Given the description of an element on the screen output the (x, y) to click on. 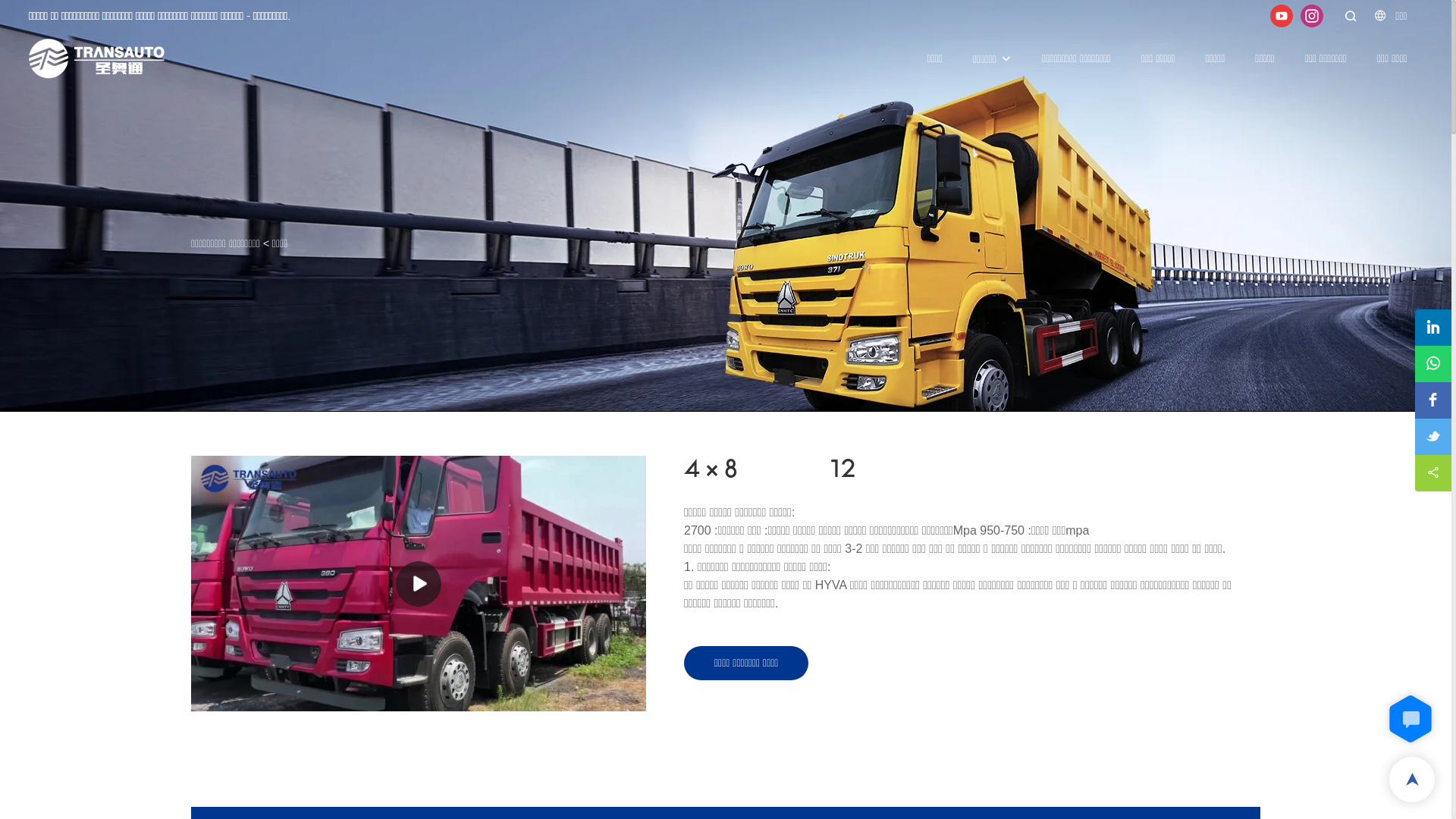
instagram Element type: hover (1311, 15)
youtube Element type: hover (1281, 15)
